Given the description of an element on the screen output the (x, y) to click on. 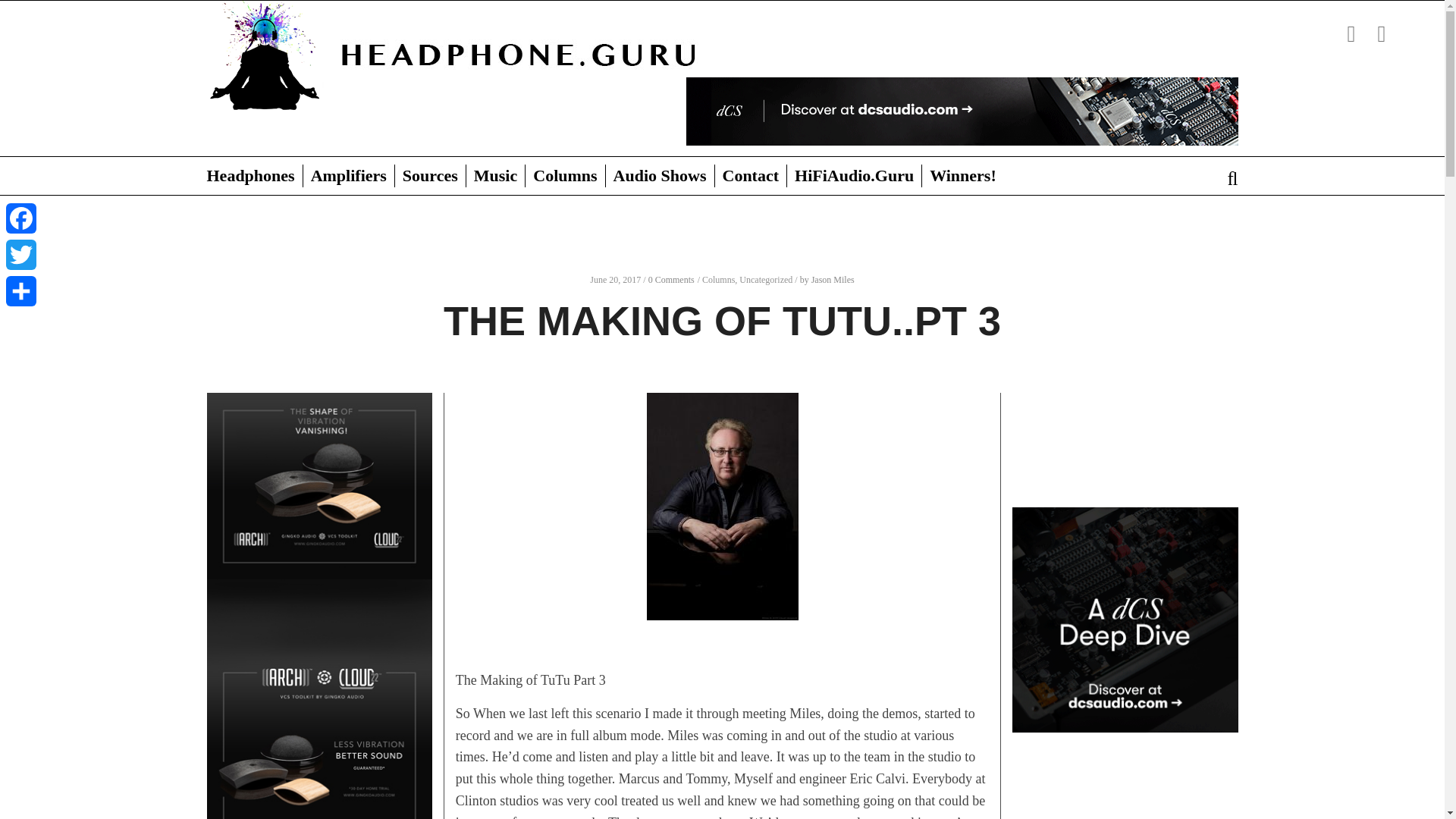
Amplifiers (348, 175)
Twitter (20, 254)
Contact (750, 175)
Sources (429, 175)
Facebook (20, 217)
Winners! (962, 175)
HiFiAudio.Guru (853, 175)
Music (494, 175)
Audio Shows (659, 175)
by Jason Miles (826, 279)
Columns (564, 175)
Headphones (253, 175)
